Given the description of an element on the screen output the (x, y) to click on. 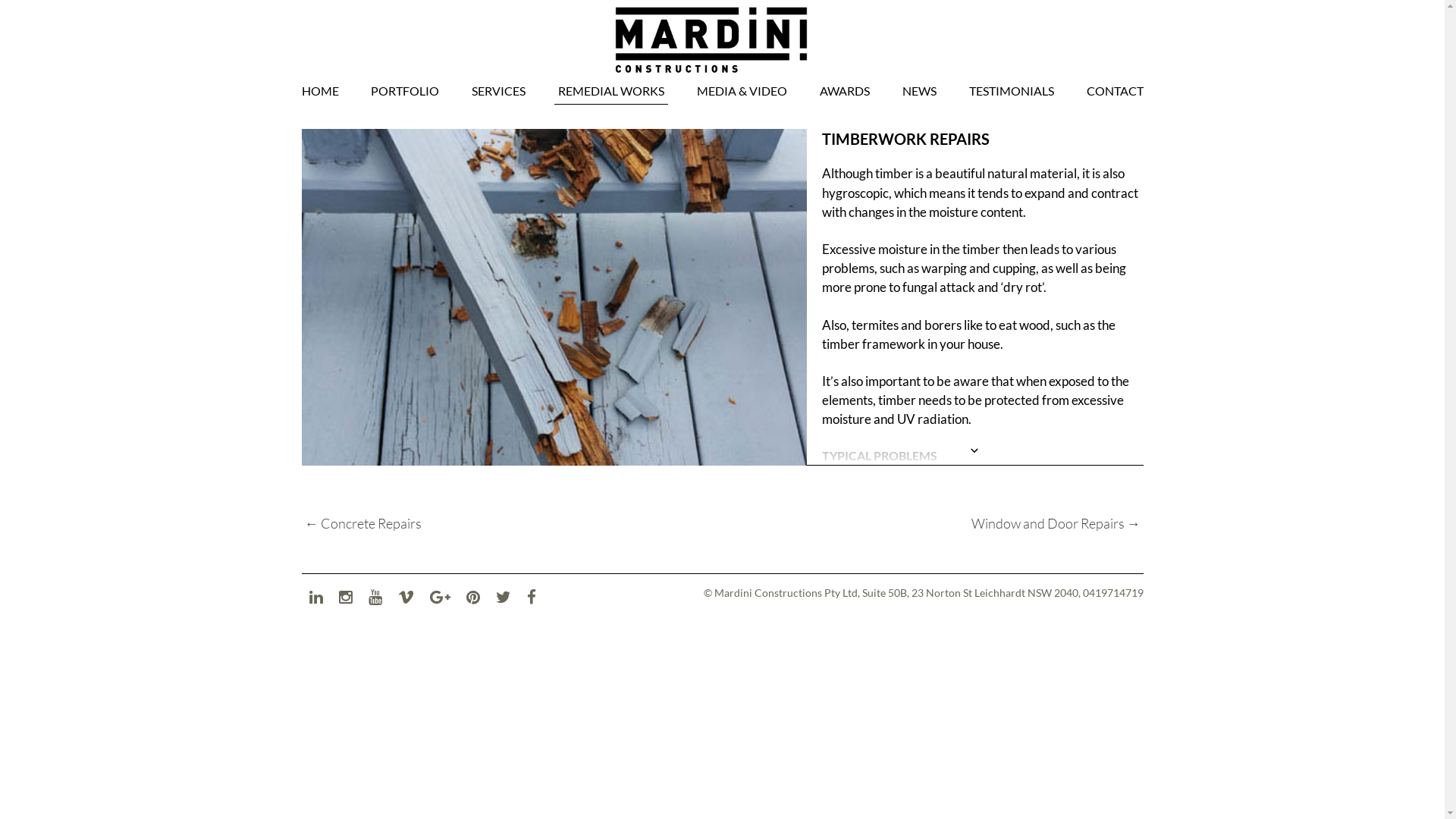
BRICKWORK REPAIRS Element type: text (611, 126)
REMEDIAL WORKS Element type: text (611, 90)
Search Element type: text (19, 82)
AWARDS Element type: text (844, 90)
MEDIA ARTICLES Element type: text (749, 121)
NEWS Element type: text (919, 90)
SERVICES Element type: text (498, 90)
CONTACT Element type: text (1112, 90)
TESTIMONIALS Element type: text (1011, 90)
MEDIA & VIDEO Element type: text (741, 90)
PORTFOLIO Element type: text (404, 90)
Skip to content Element type: text (40, 82)
HOME Element type: text (321, 90)
TIMBERWORK REPAIRS Element type: text (982, 138)
